Given the description of an element on the screen output the (x, y) to click on. 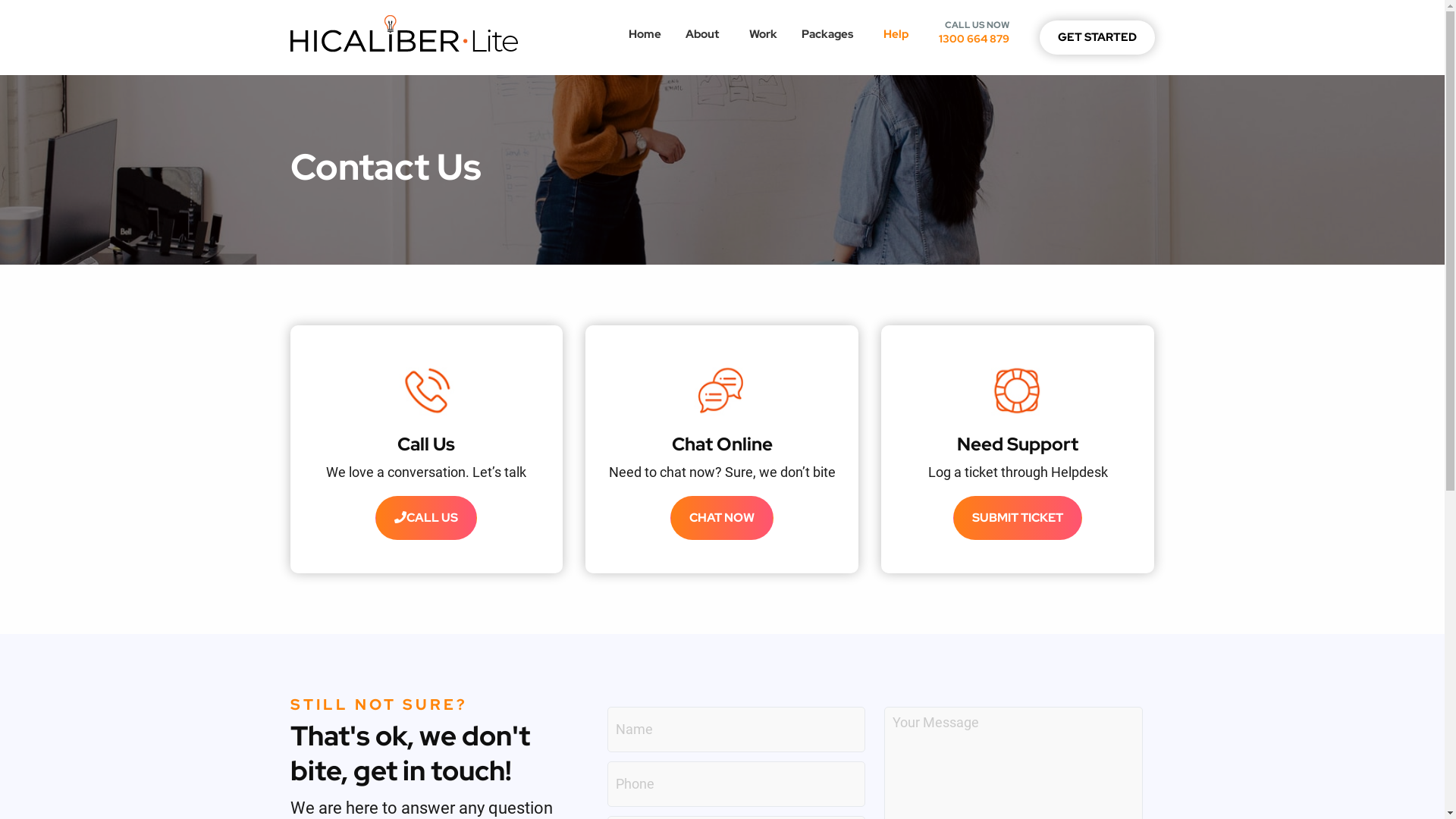
Work Element type: text (763, 34)
GET STARTED Element type: text (1096, 37)
Help Element type: text (897, 34)
About Element type: text (705, 34)
CHAT NOW Element type: text (721, 517)
CALL US NOW
1300 664 879 Element type: text (973, 31)
CALL US Element type: text (425, 517)
Packages Element type: text (829, 34)
SUBMIT TICKET Element type: text (1017, 517)
Home Element type: text (643, 34)
